Given the description of an element on the screen output the (x, y) to click on. 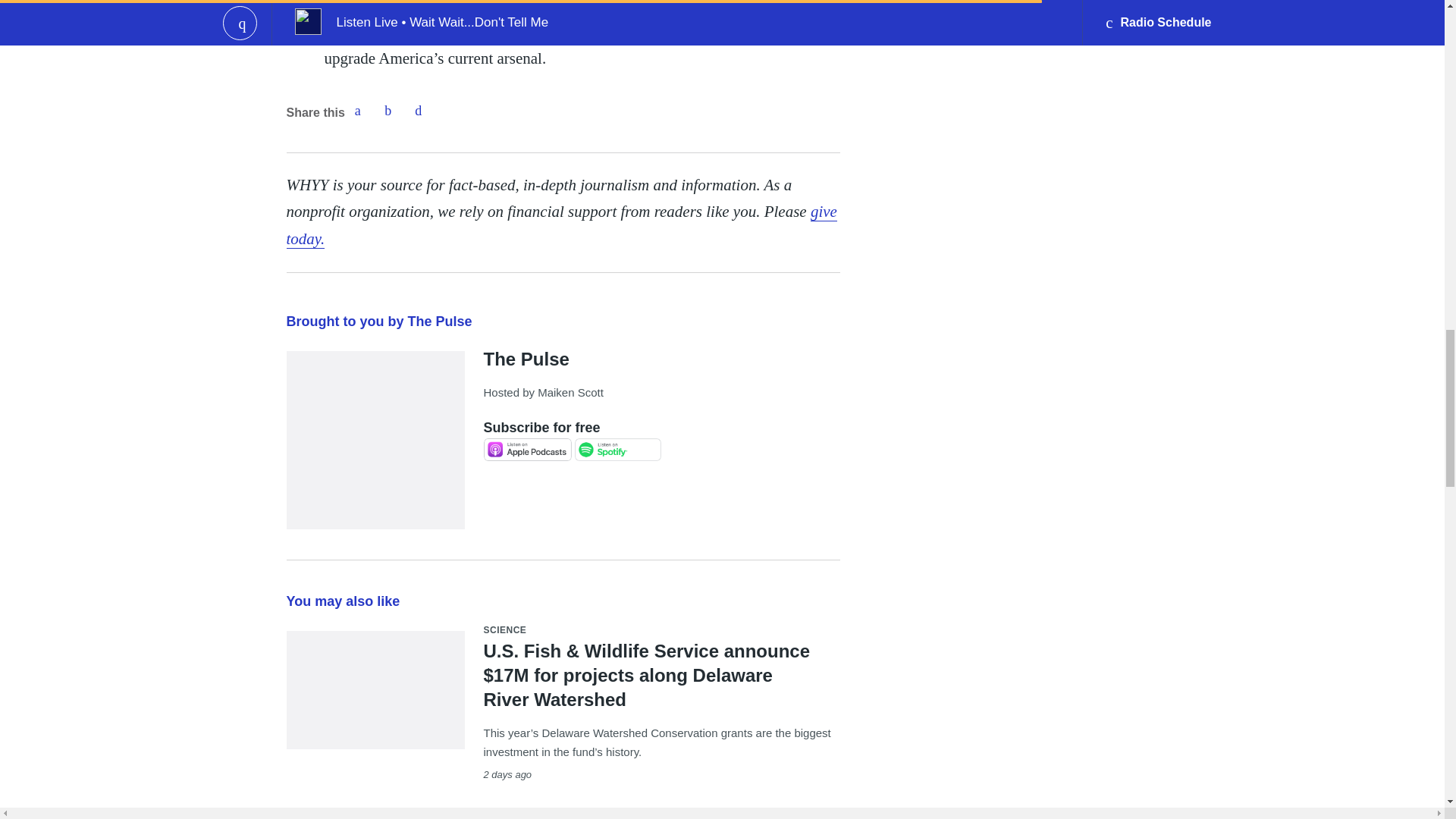
Facebook (357, 110)
Twitter (387, 110)
Email (418, 110)
